Given the description of an element on the screen output the (x, y) to click on. 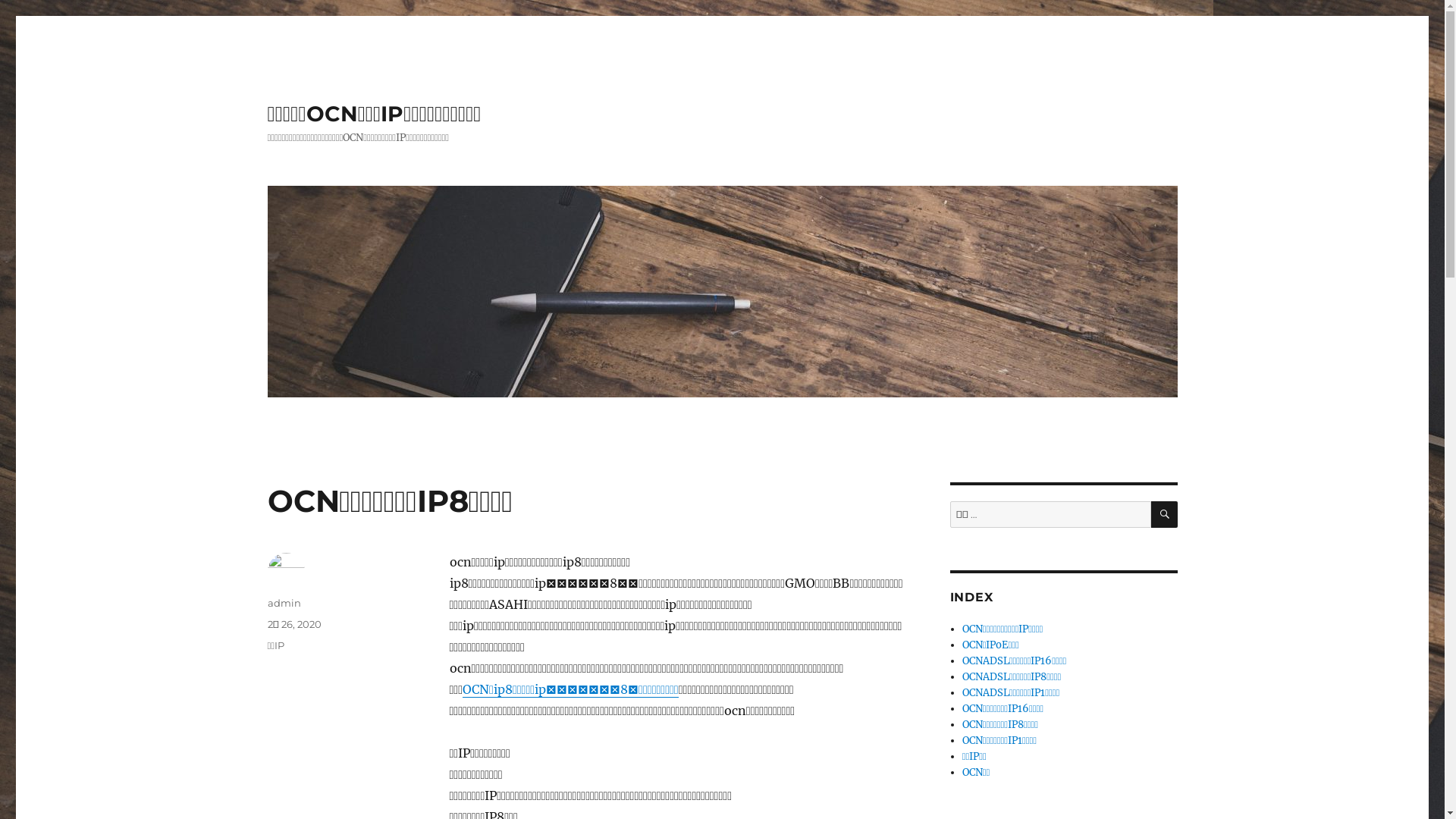
admin Element type: text (283, 602)
